Given the description of an element on the screen output the (x, y) to click on. 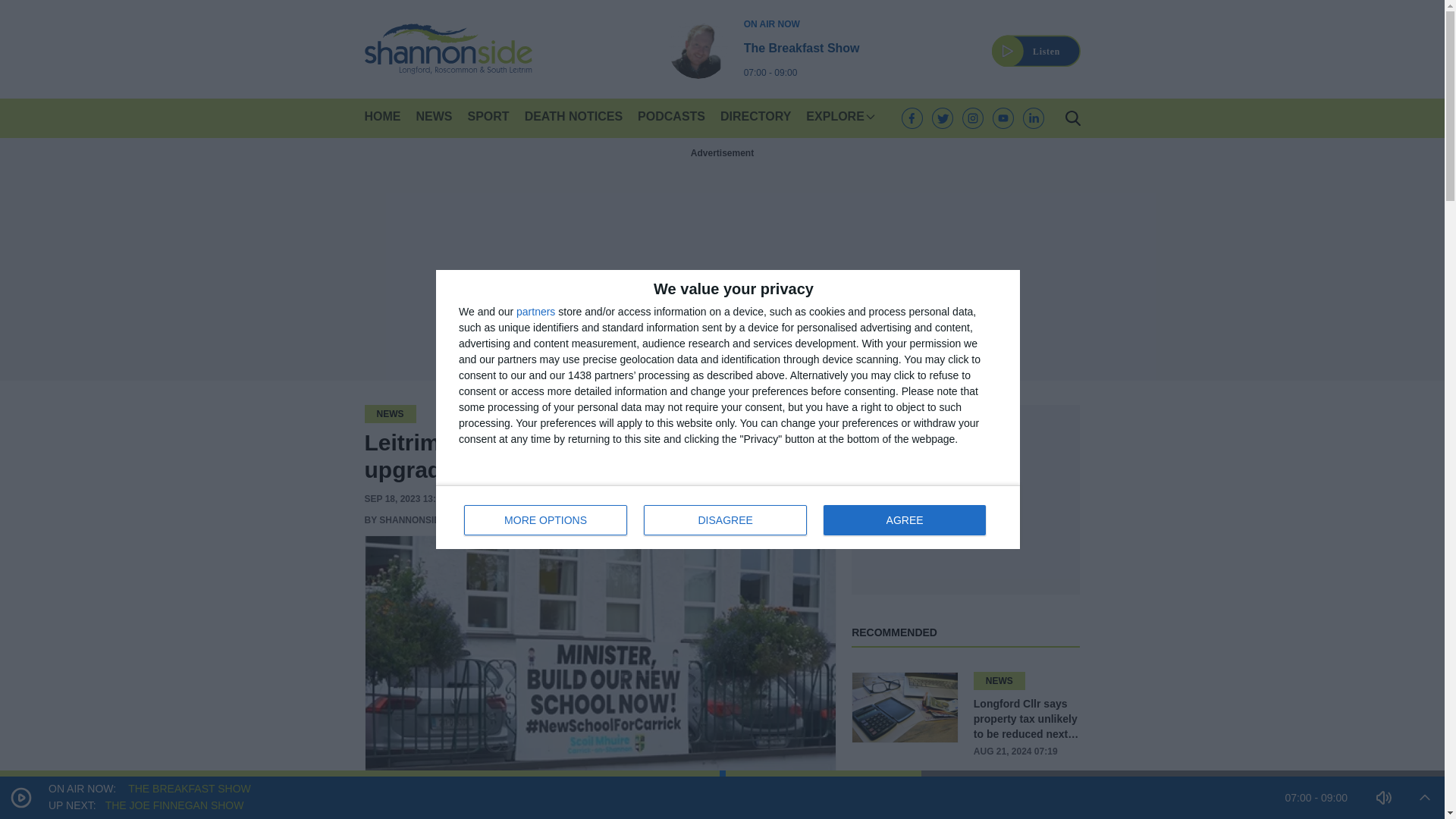
Shannonside.ie (764, 48)
Listen (447, 47)
HOME (1035, 42)
NEWS (382, 118)
AGREE (432, 118)
DISAGREE (904, 520)
MORE OPTIONS (724, 520)
PODCASTS (545, 520)
